Given the description of an element on the screen output the (x, y) to click on. 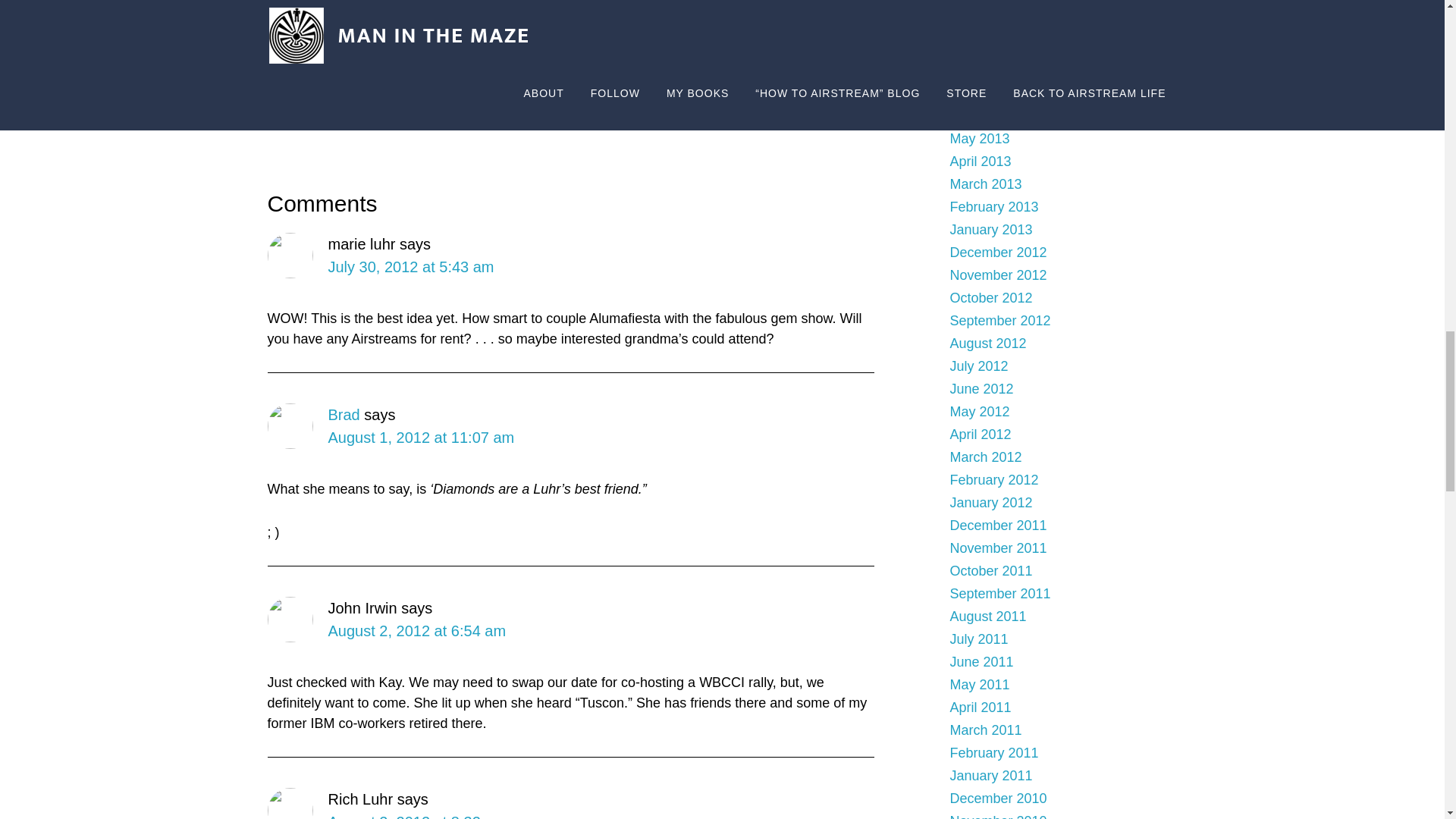
RichLuhr (529, 104)
August 2, 2012 at 6:54 am (416, 630)
Alumafiesta (657, 104)
Brad (343, 414)
July 30, 2012 at 5:43 am (410, 266)
August 2, 2012 at 8:32 am (416, 816)
August 1, 2012 at 11:07 am (420, 437)
